Given the description of an element on the screen output the (x, y) to click on. 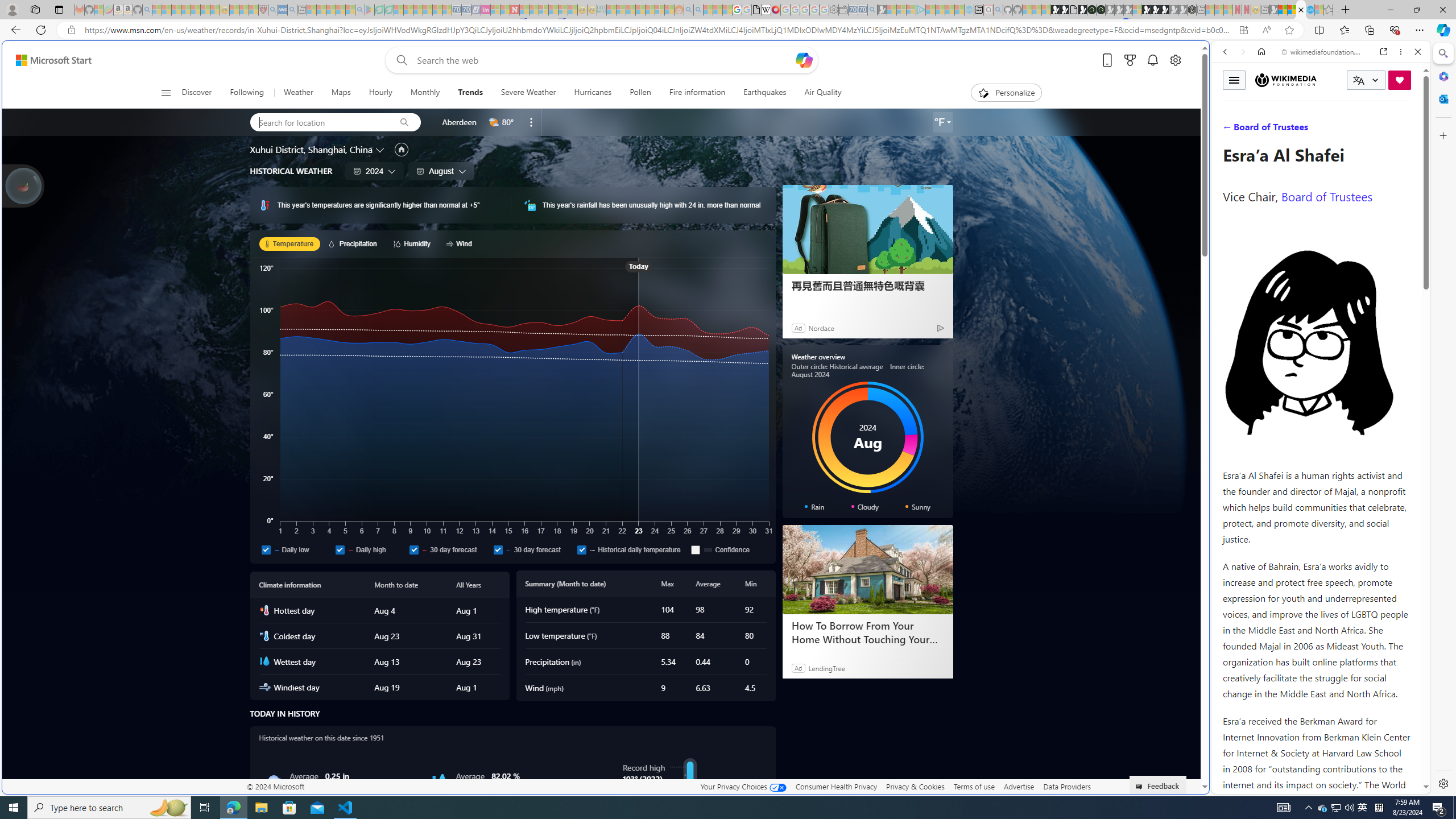
Monthly (424, 92)
Wikimedia Foundation (1286, 79)
Confidence (727, 549)
